Given the description of an element on the screen output the (x, y) to click on. 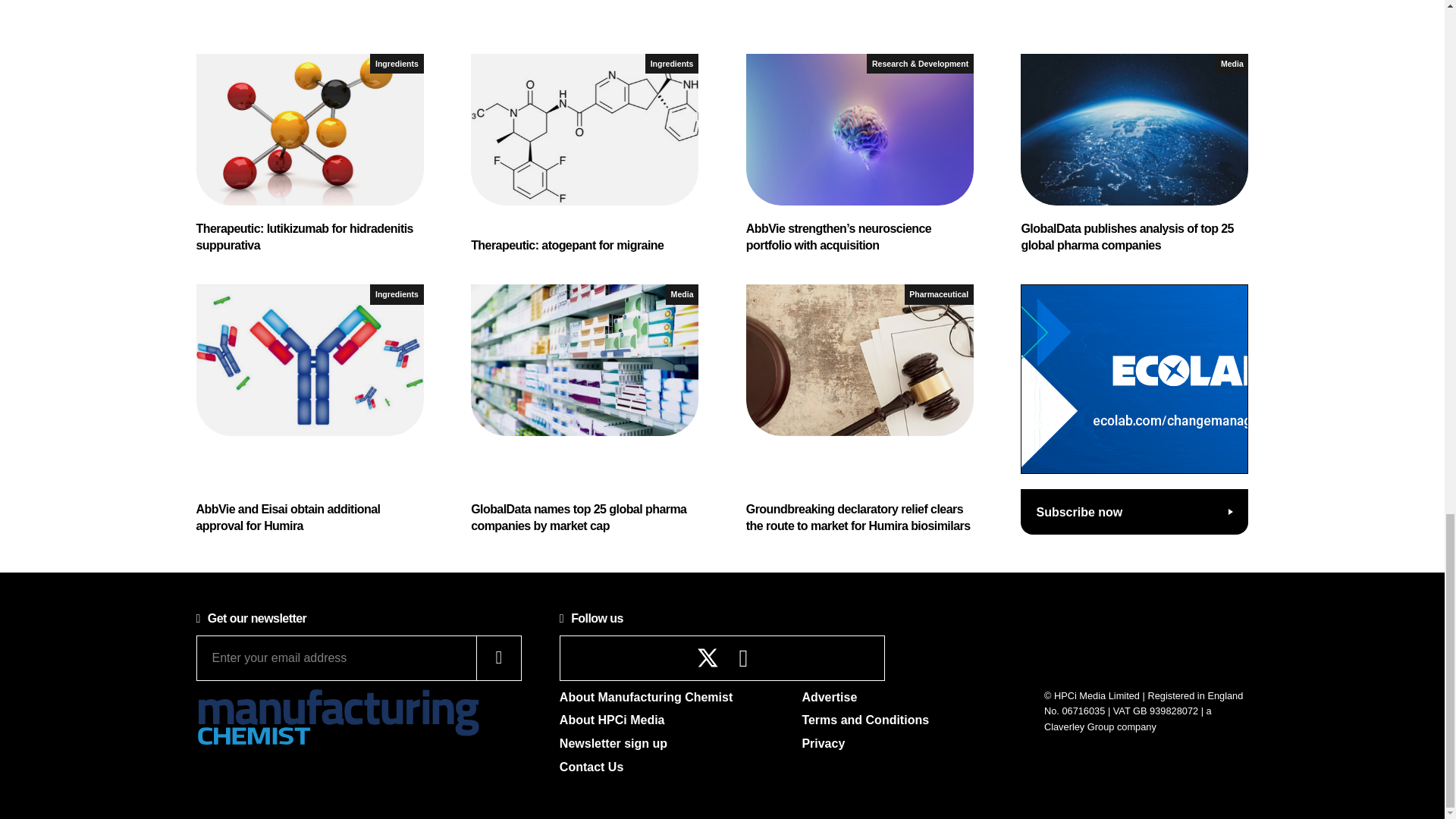
Ingredients (396, 64)
Follow Manufacturing Chemist on X (708, 658)
